Given the description of an element on the screen output the (x, y) to click on. 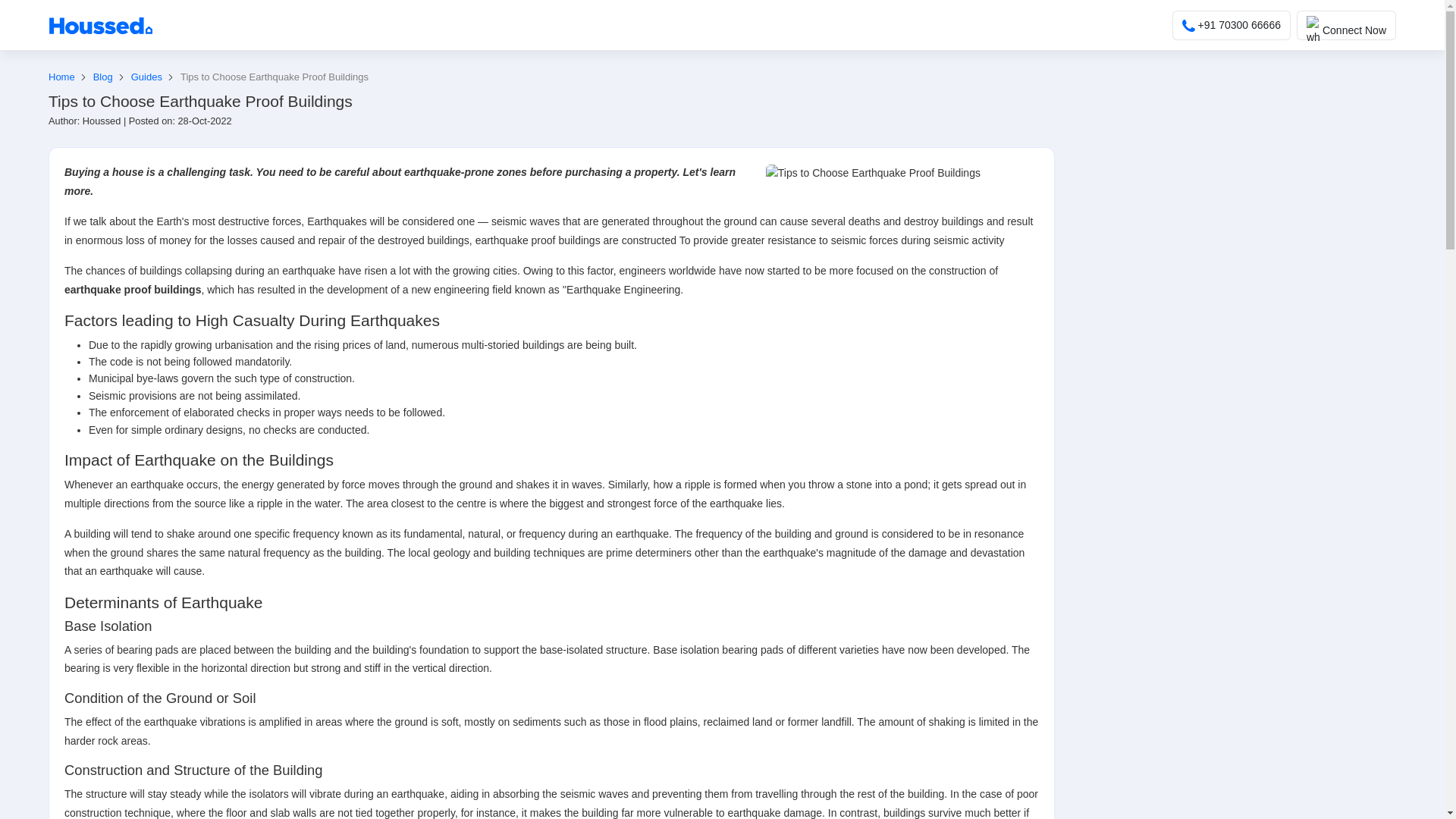
Connect Now (1346, 25)
Blog (112, 77)
Houssed Logo (100, 25)
Guides (155, 77)
Home (70, 77)
